Given the description of an element on the screen output the (x, y) to click on. 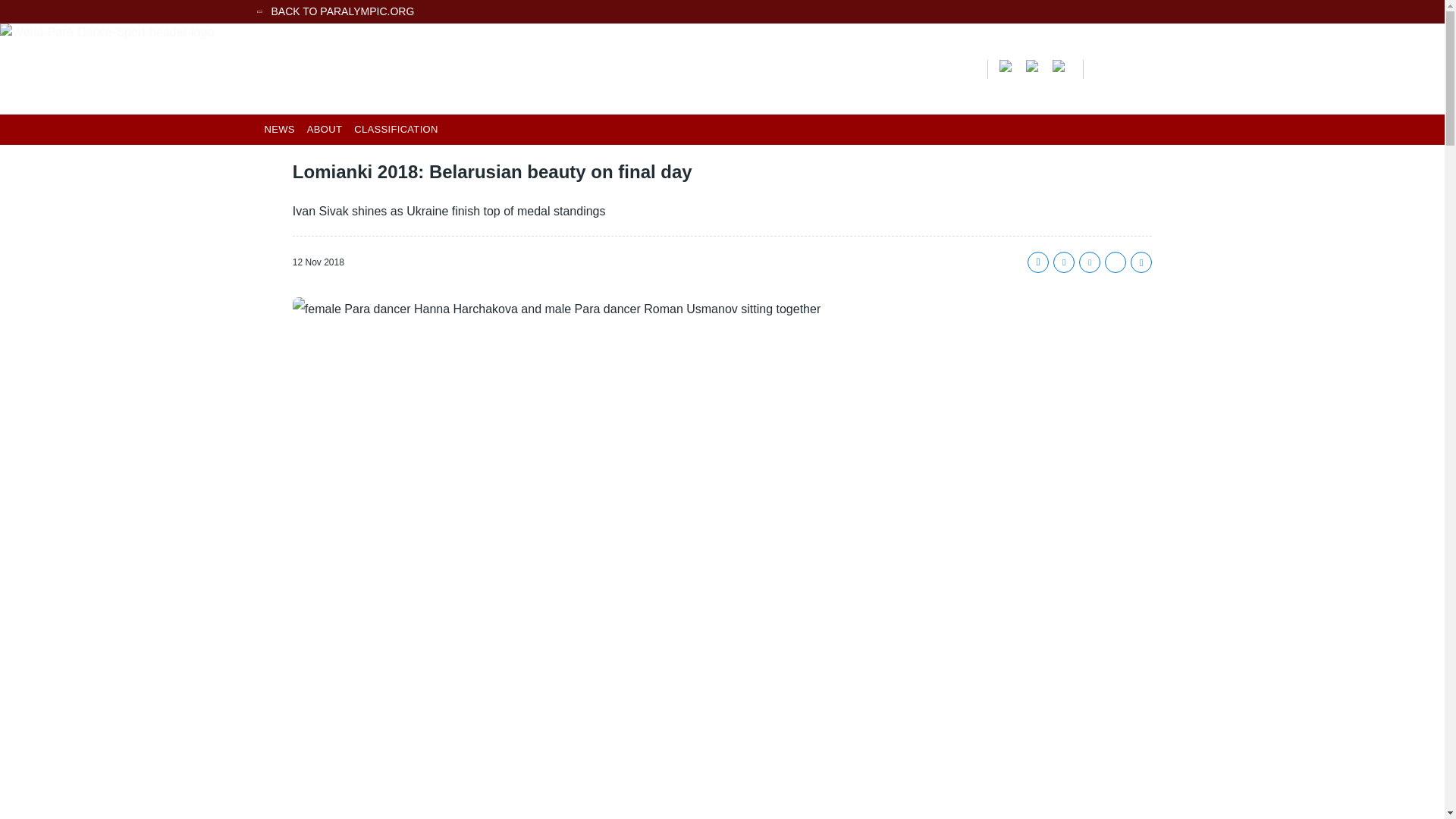
Facebook (1007, 64)
Facebook (1037, 261)
Skip to main content (722, 1)
Linkedin (1115, 261)
BACK TO PARALYMPIC.ORG (721, 11)
Instagram (1061, 64)
Enter the terms you wish to search for. (924, 67)
NEWS (278, 129)
Twitter (1035, 64)
Facebook (1007, 64)
